Given the description of an element on the screen output the (x, y) to click on. 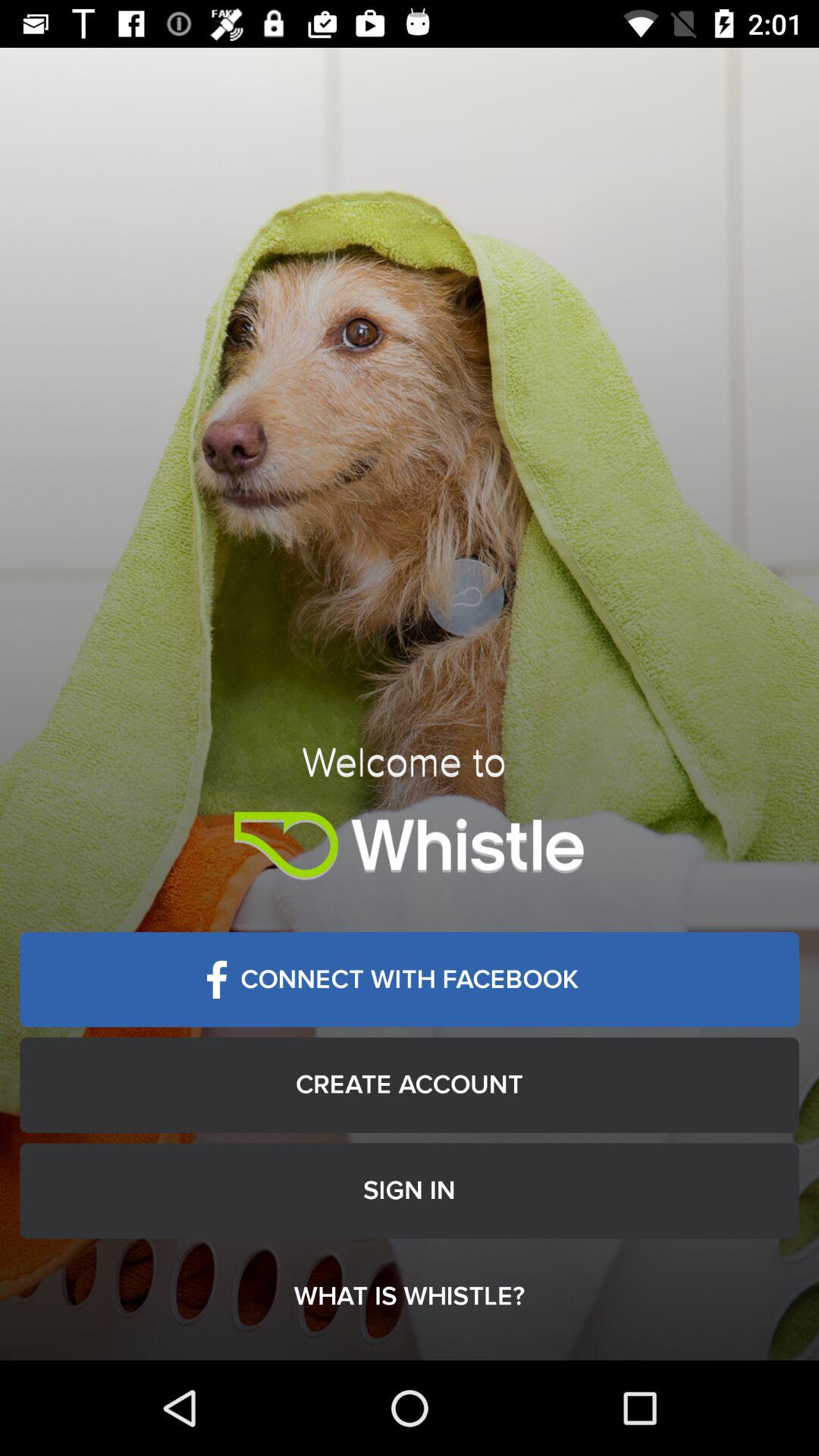
scroll until connect with facebook icon (409, 979)
